Given the description of an element on the screen output the (x, y) to click on. 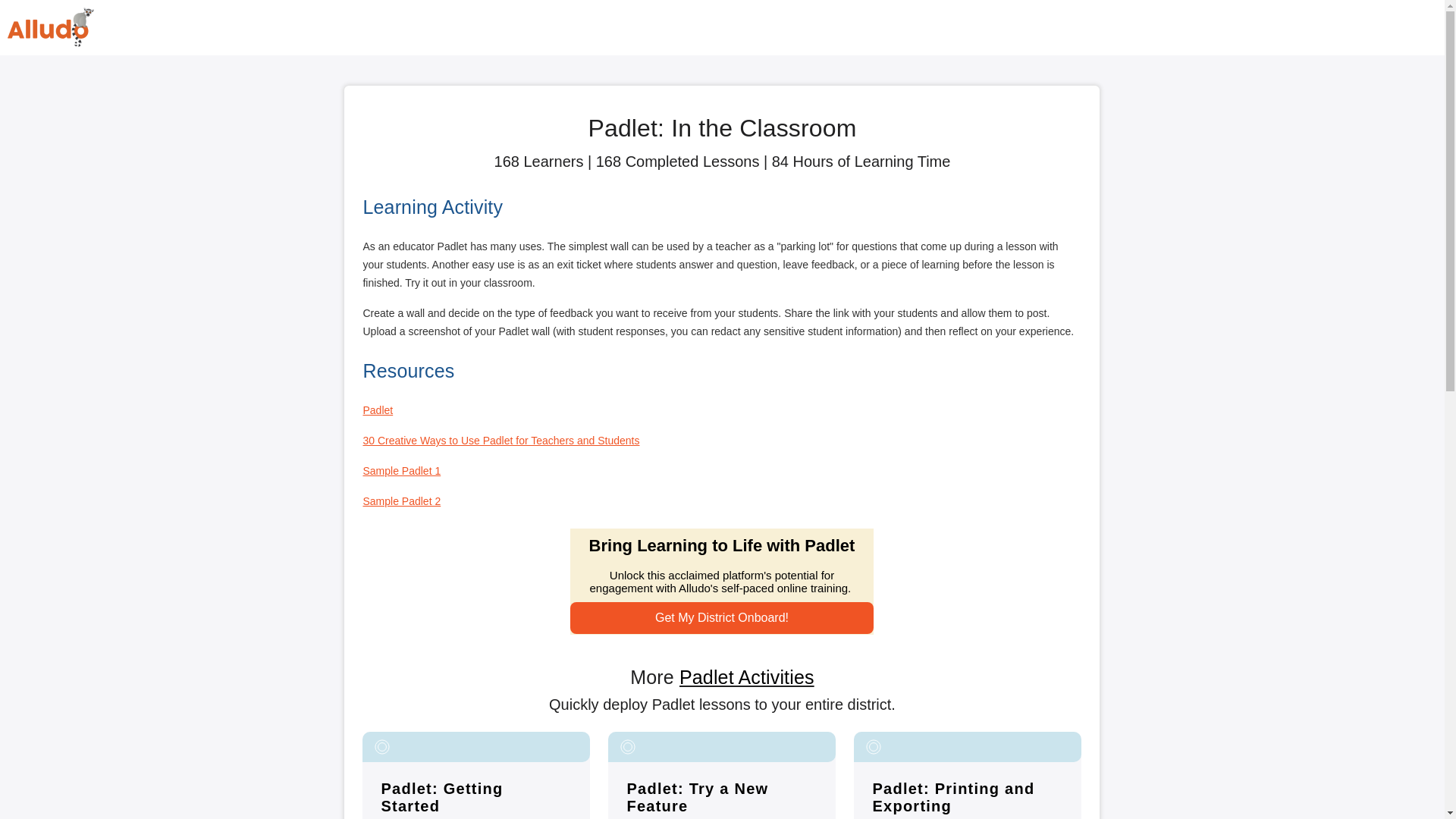
Padlet: Try a New Feature (697, 797)
Padlet: Printing and Exporting (952, 797)
Sample Padlet 2 (401, 500)
Embedded CTA (721, 581)
Padlet (377, 410)
Sample Padlet 1 (401, 470)
Padlet: Getting Started (441, 797)
Padlet Activities (746, 676)
30 Creative Ways to Use Padlet for Teachers and Students (500, 440)
